Given the description of an element on the screen output the (x, y) to click on. 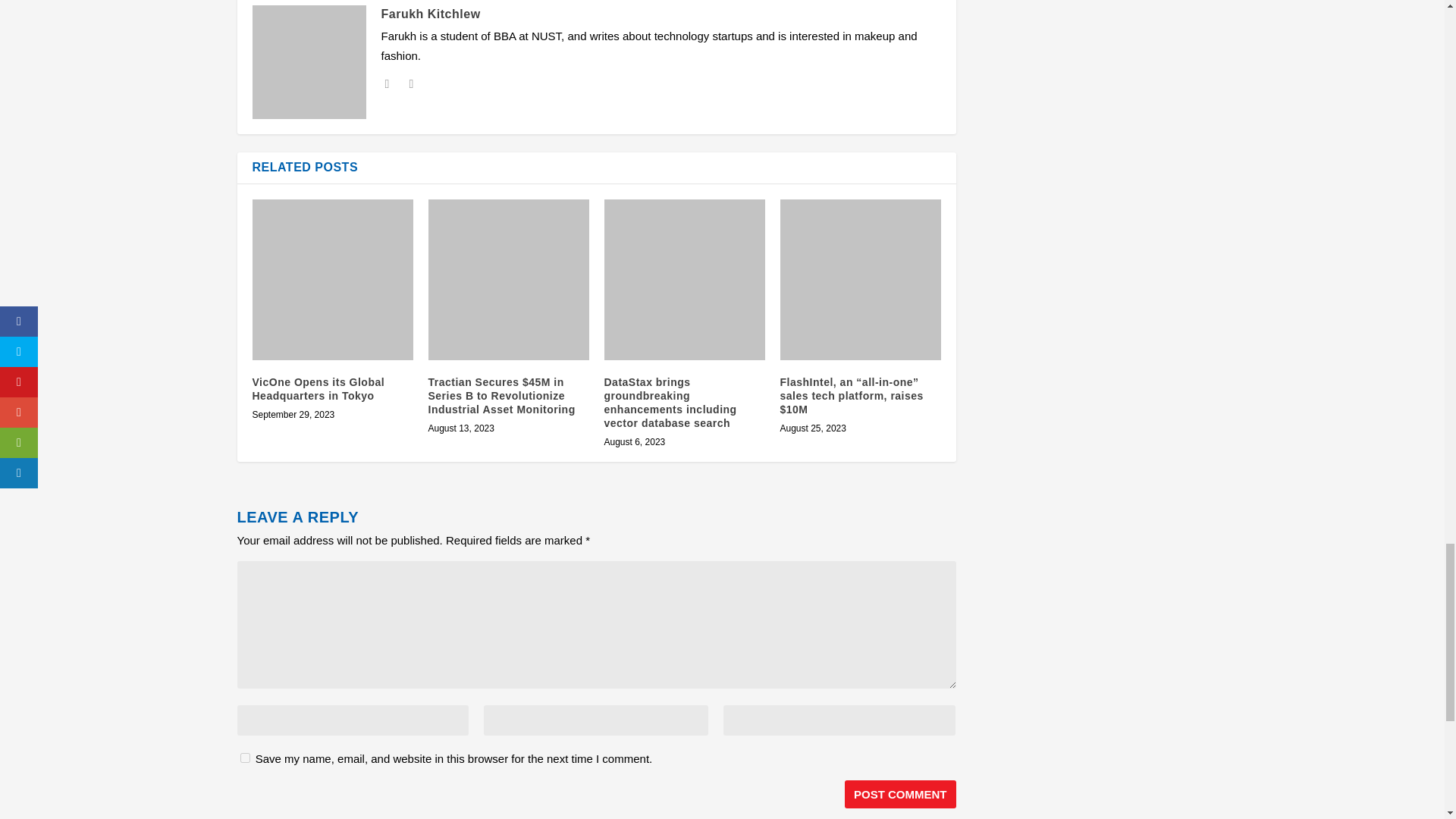
Post Comment (900, 794)
yes (244, 757)
